Given the description of an element on the screen output the (x, y) to click on. 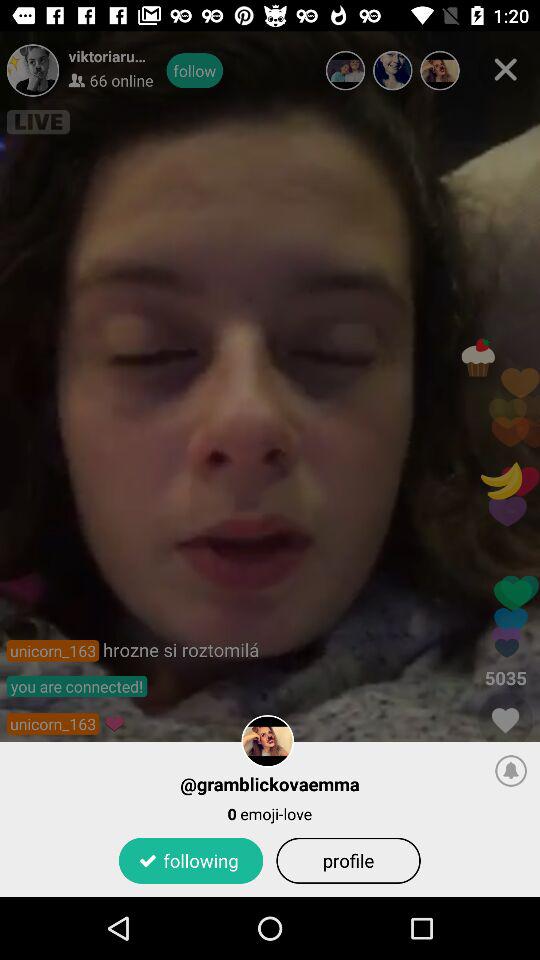
choose the icon at the center (270, 463)
